Given the description of an element on the screen output the (x, y) to click on. 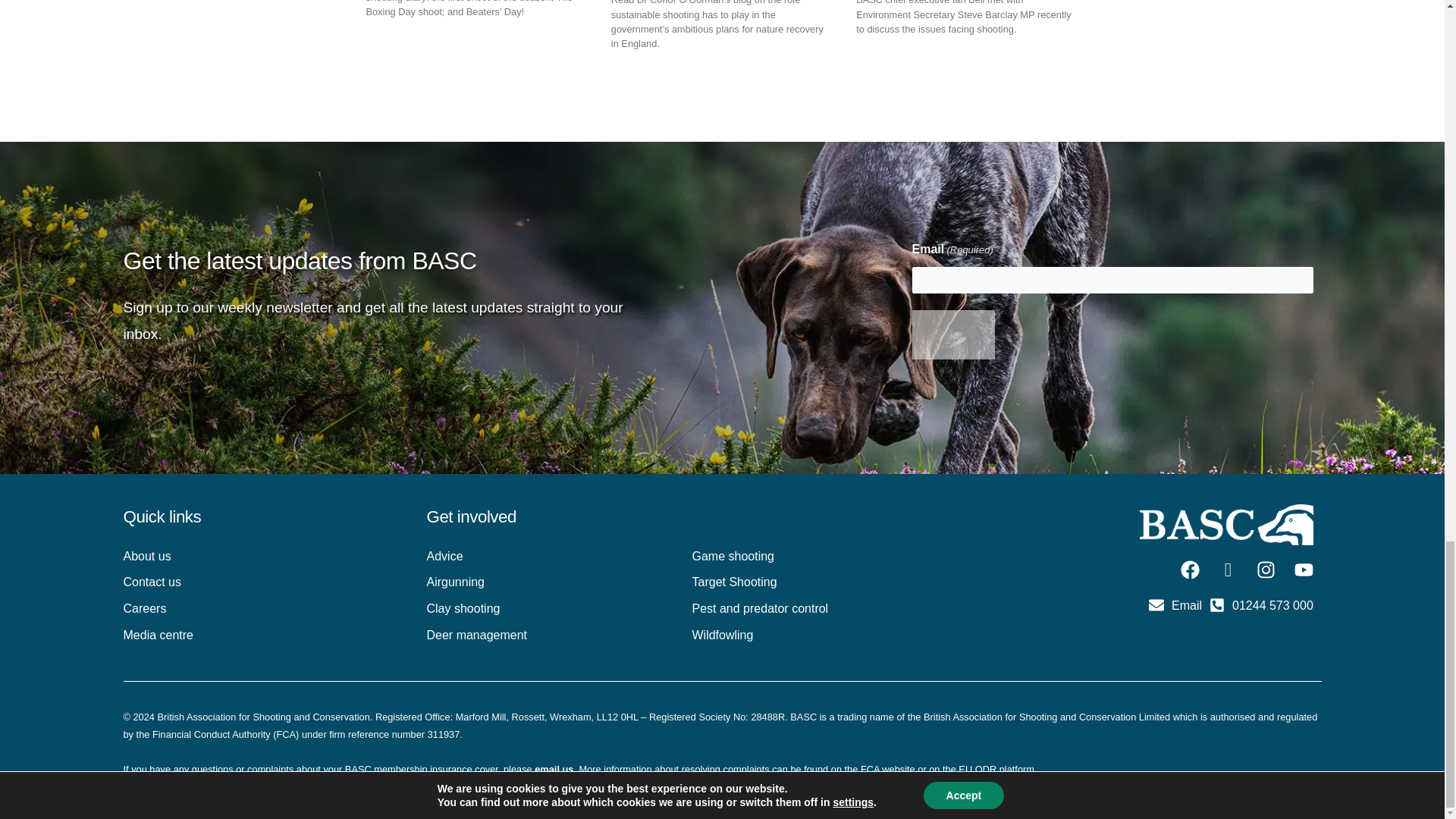
Submit (952, 335)
